Given the description of an element on the screen output the (x, y) to click on. 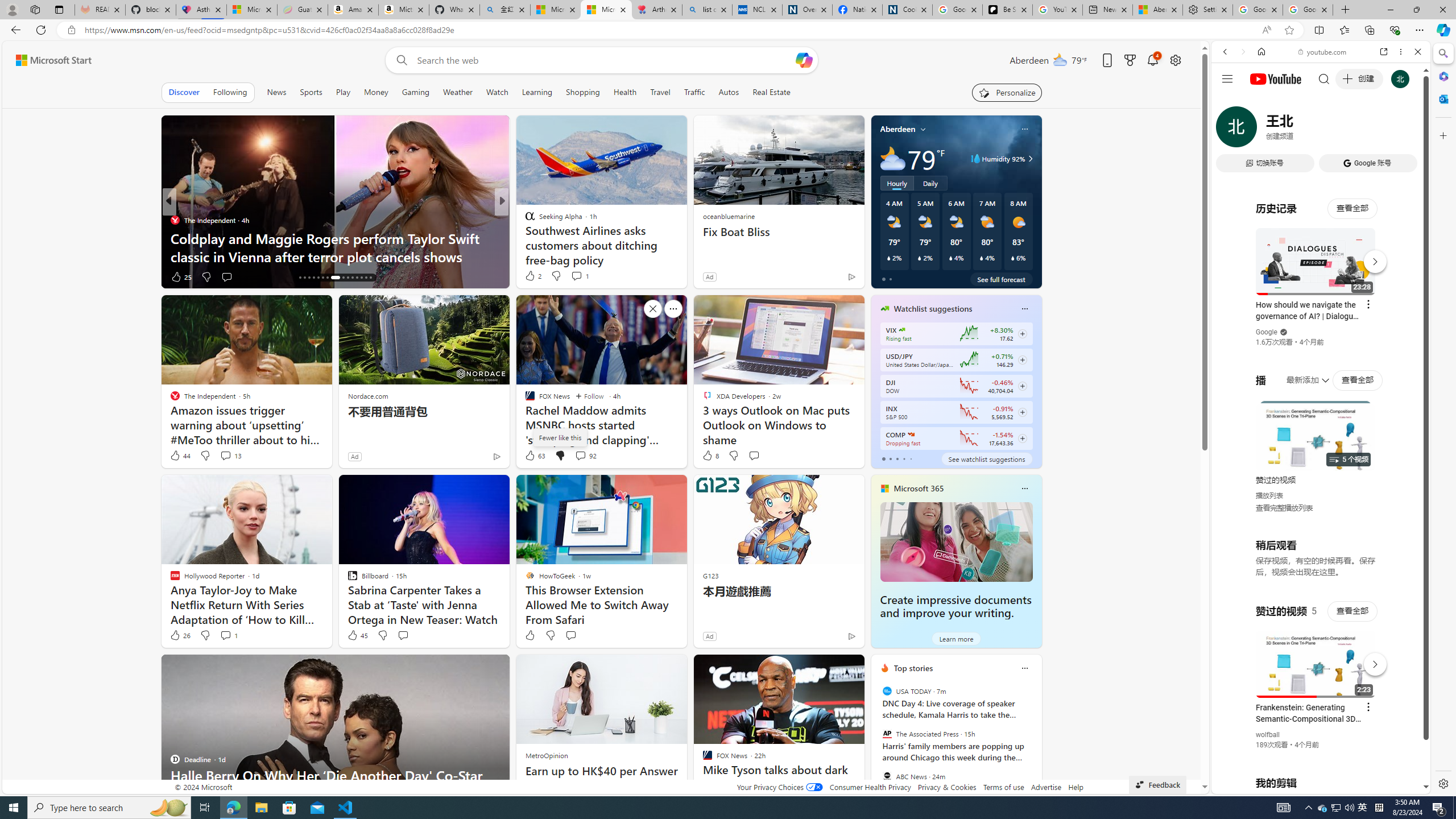
Gaming (415, 92)
Aberdeen, Hong Kong SAR hourly forecast | Microsoft Weather (1158, 9)
Real Estate (771, 92)
USA TODAY (886, 691)
CBOE Market Volatility Index (901, 329)
Music (1320, 309)
Scripps News (524, 219)
Google (1266, 331)
